Given the description of an element on the screen output the (x, y) to click on. 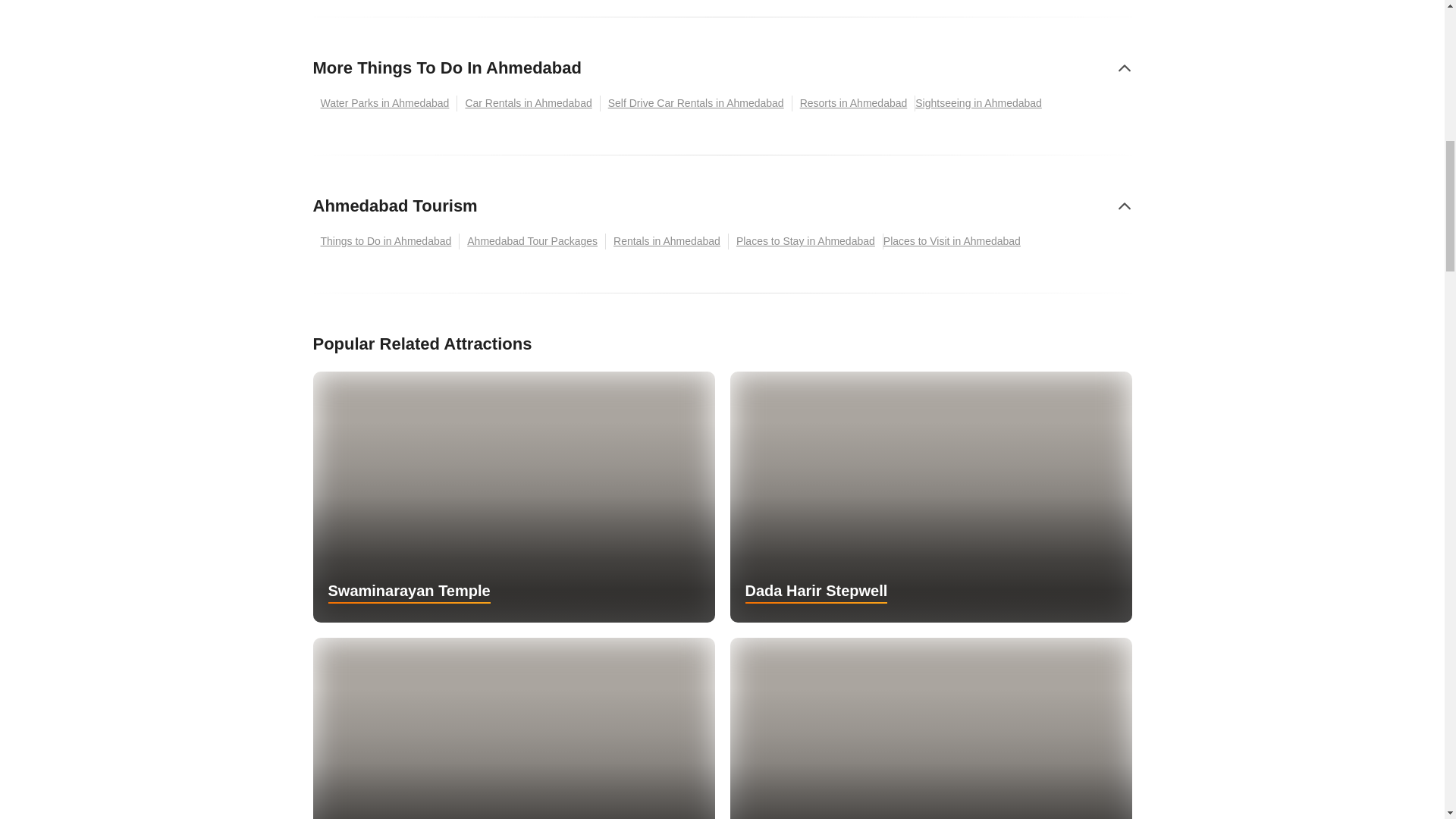
Water Parks in Ahmedabad (385, 103)
Places to Visit in Ahmedabad (955, 241)
Dada Harir Stepwell (930, 496)
Car Rentals in Ahmedabad (528, 103)
Things to Do in Ahmedabad (386, 241)
Swaminarayan Temple (513, 496)
Places to Stay in Ahmedabad (806, 241)
Rentals in Ahmedabad (667, 241)
Sabarmati Ashram (513, 728)
Ahmedabad Tour Packages (532, 241)
